Given the description of an element on the screen output the (x, y) to click on. 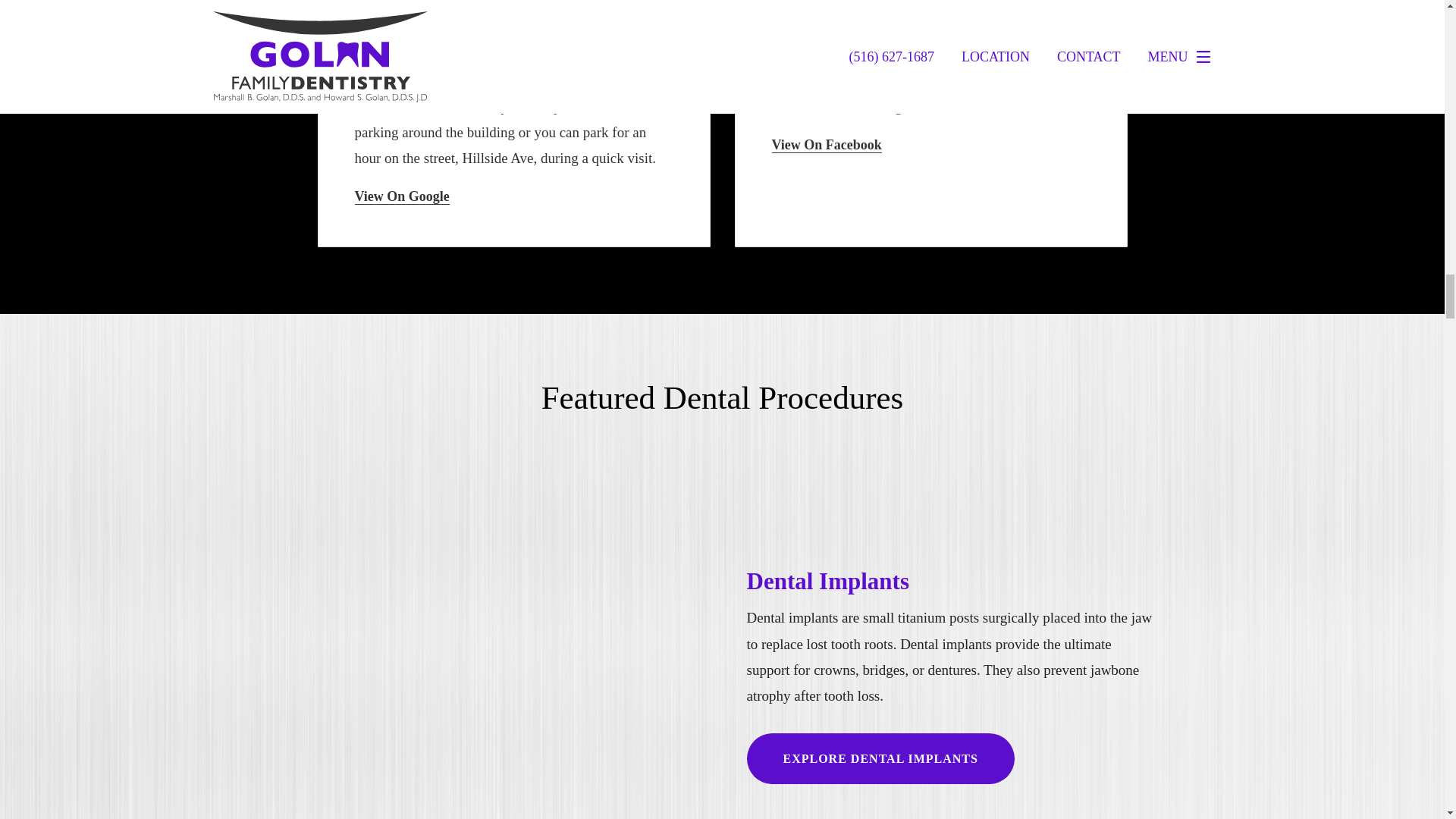
Dental Implants (826, 581)
EXPLORE DENTAL IMPLANTS (879, 758)
View On Google (402, 196)
View On Facebook (826, 145)
